Given the description of an element on the screen output the (x, y) to click on. 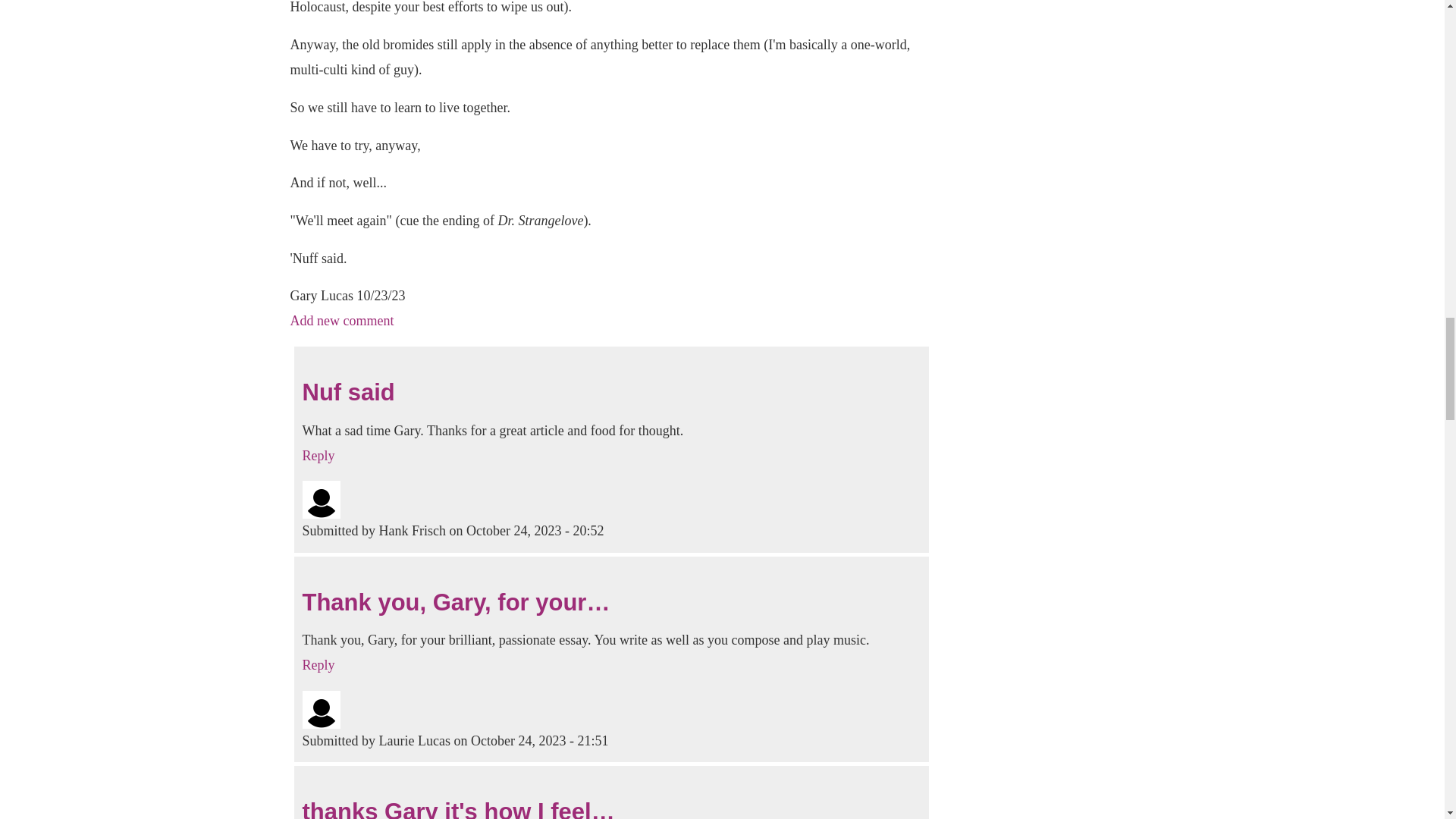
Add new comment (341, 320)
Reply (317, 455)
Reply (317, 664)
Nuf said (347, 392)
Share your thoughts and opinions. (341, 320)
